Given the description of an element on the screen output the (x, y) to click on. 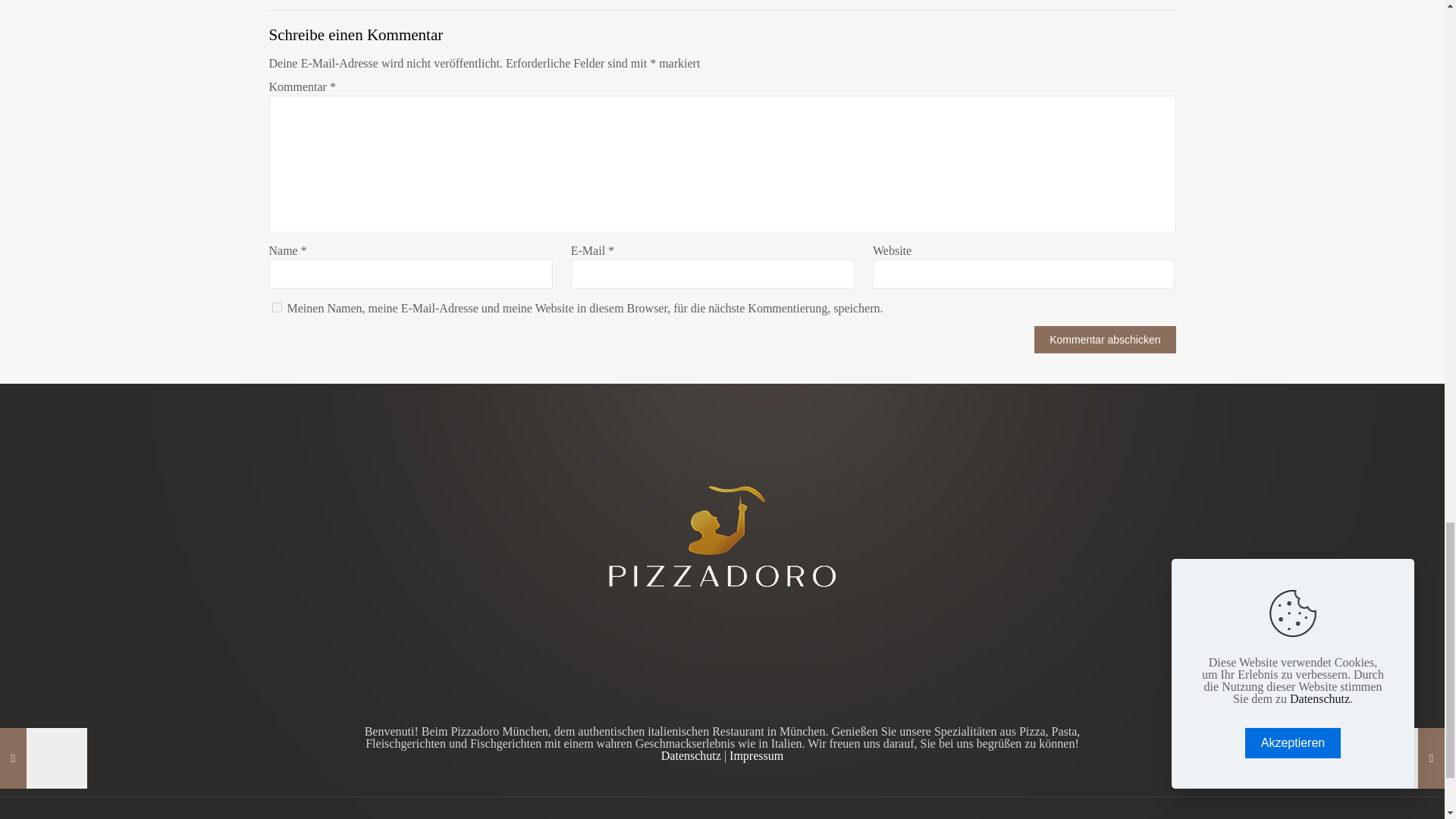
Kommentar abschicken (1103, 338)
Impressum (756, 755)
Datenschutz (690, 755)
yes (275, 307)
Kommentar abschicken (1103, 338)
